Given the description of an element on the screen output the (x, y) to click on. 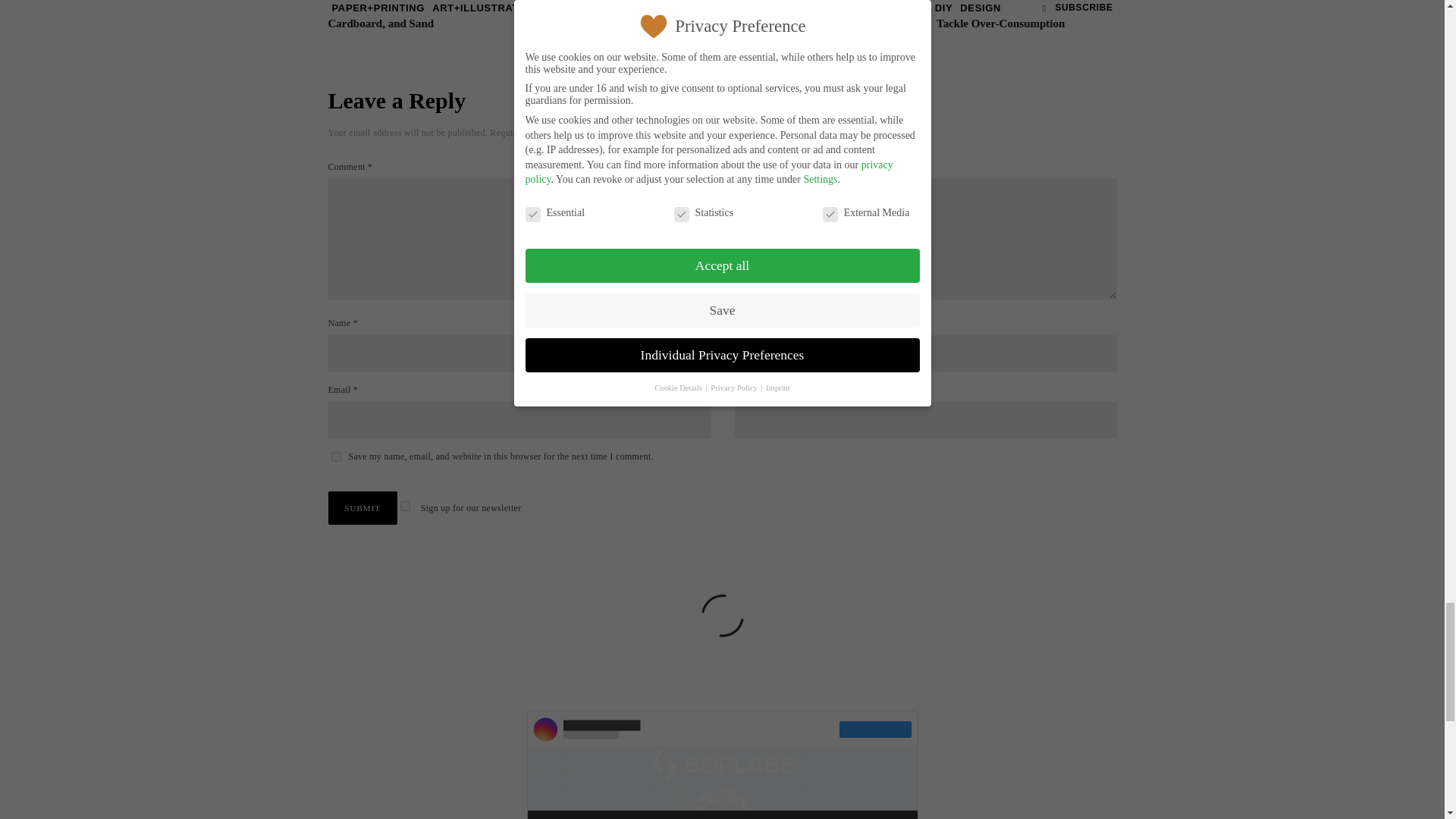
yes (335, 456)
Submit (362, 507)
1 (405, 506)
